Given the description of an element on the screen output the (x, y) to click on. 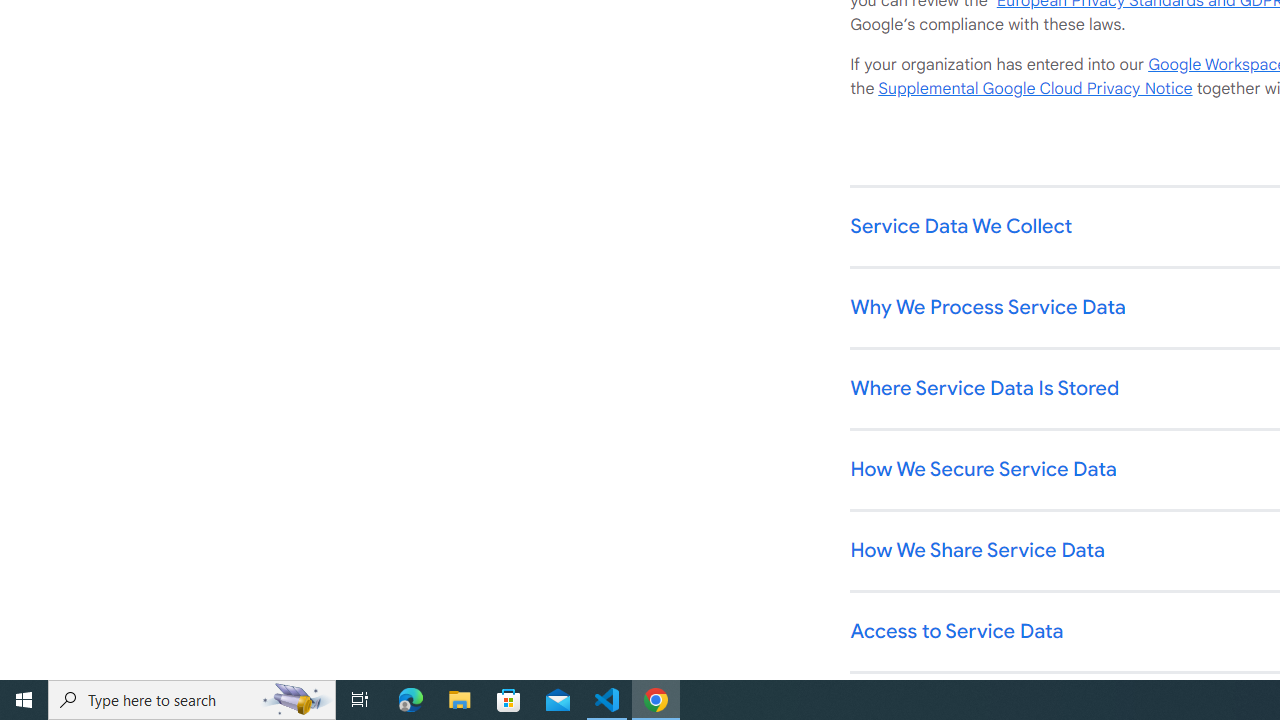
Supplemental Google Cloud Privacy Notice (1035, 89)
